Given the description of an element on the screen output the (x, y) to click on. 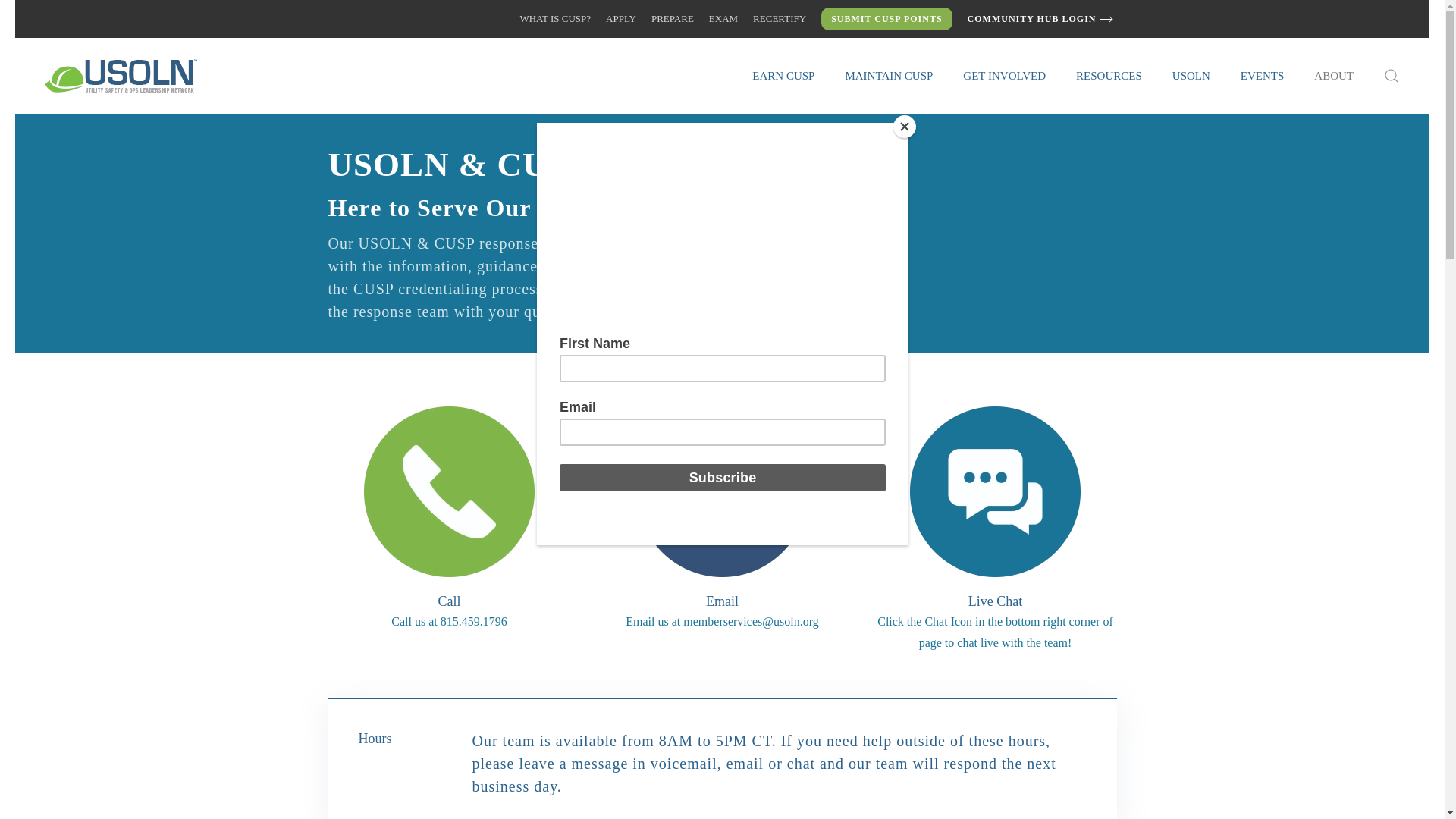
Community Hub Login (1042, 19)
Submit Points (886, 18)
